Given the description of an element on the screen output the (x, y) to click on. 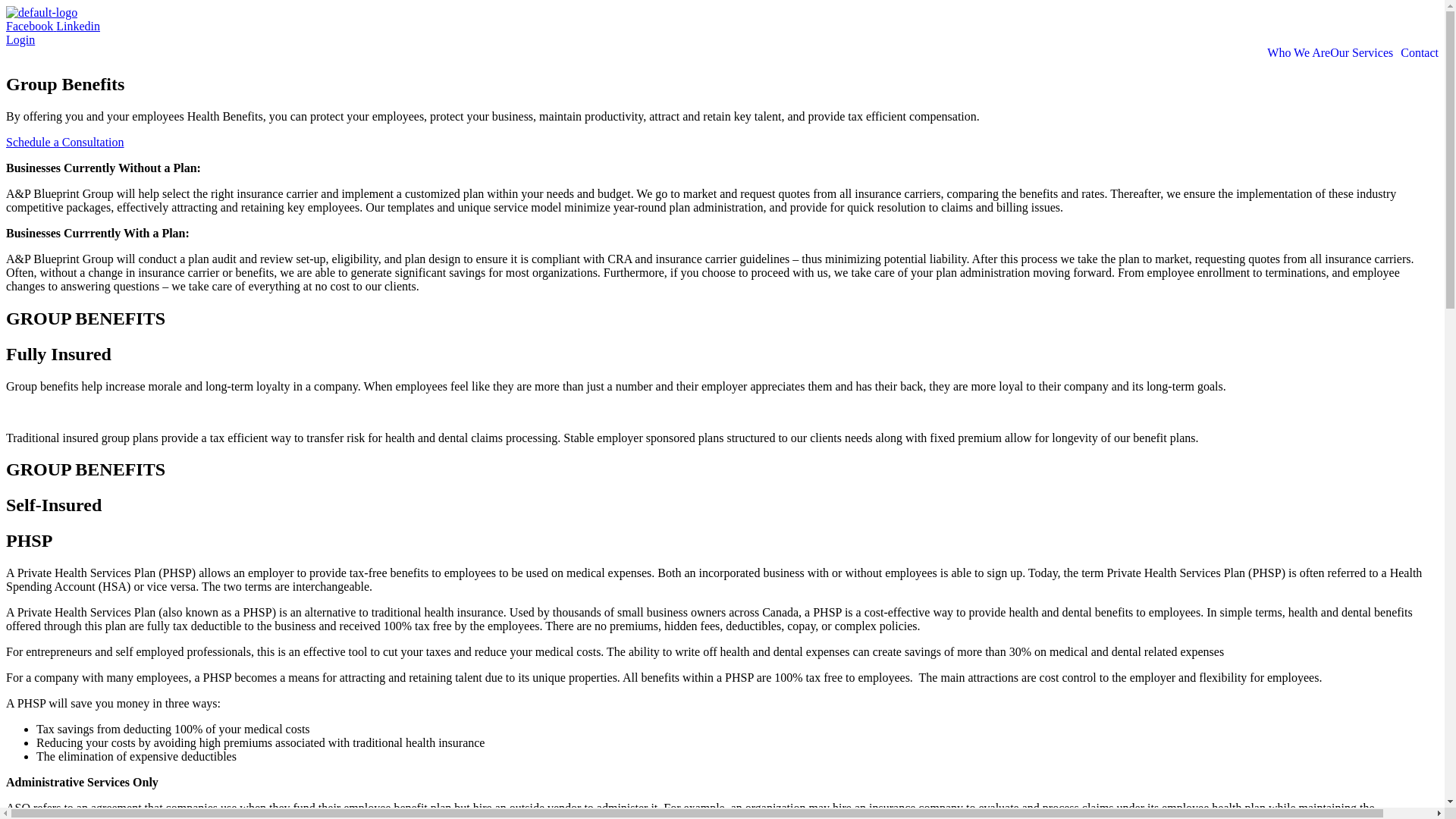
Facebook (30, 25)
Schedule a Consultation (64, 141)
Our Services (1365, 52)
Linkedin (78, 25)
Login (19, 39)
Who We Are (1298, 52)
Contact (1419, 52)
